Given the description of an element on the screen output the (x, y) to click on. 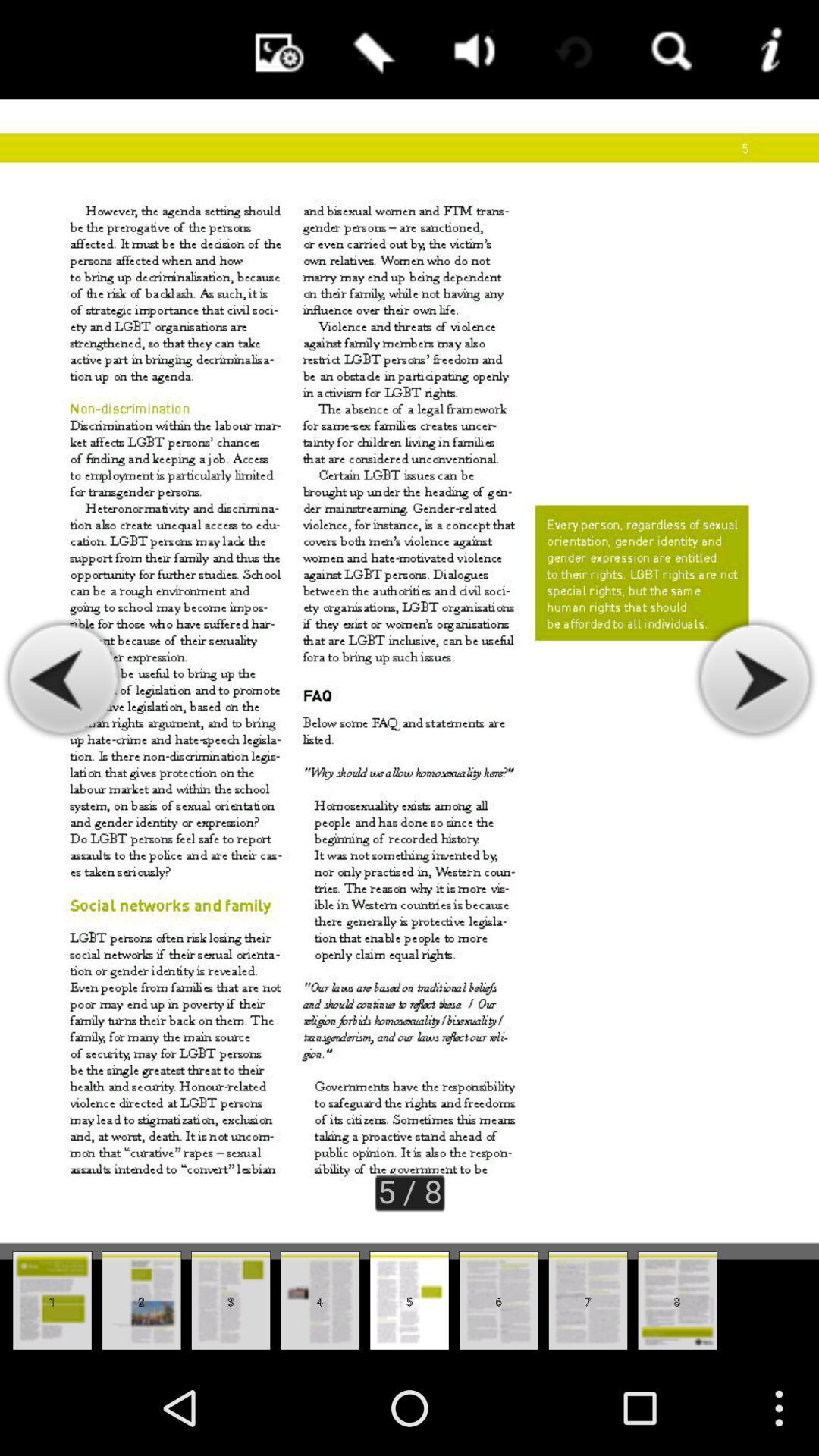
more information (769, 49)
